Given the description of an element on the screen output the (x, y) to click on. 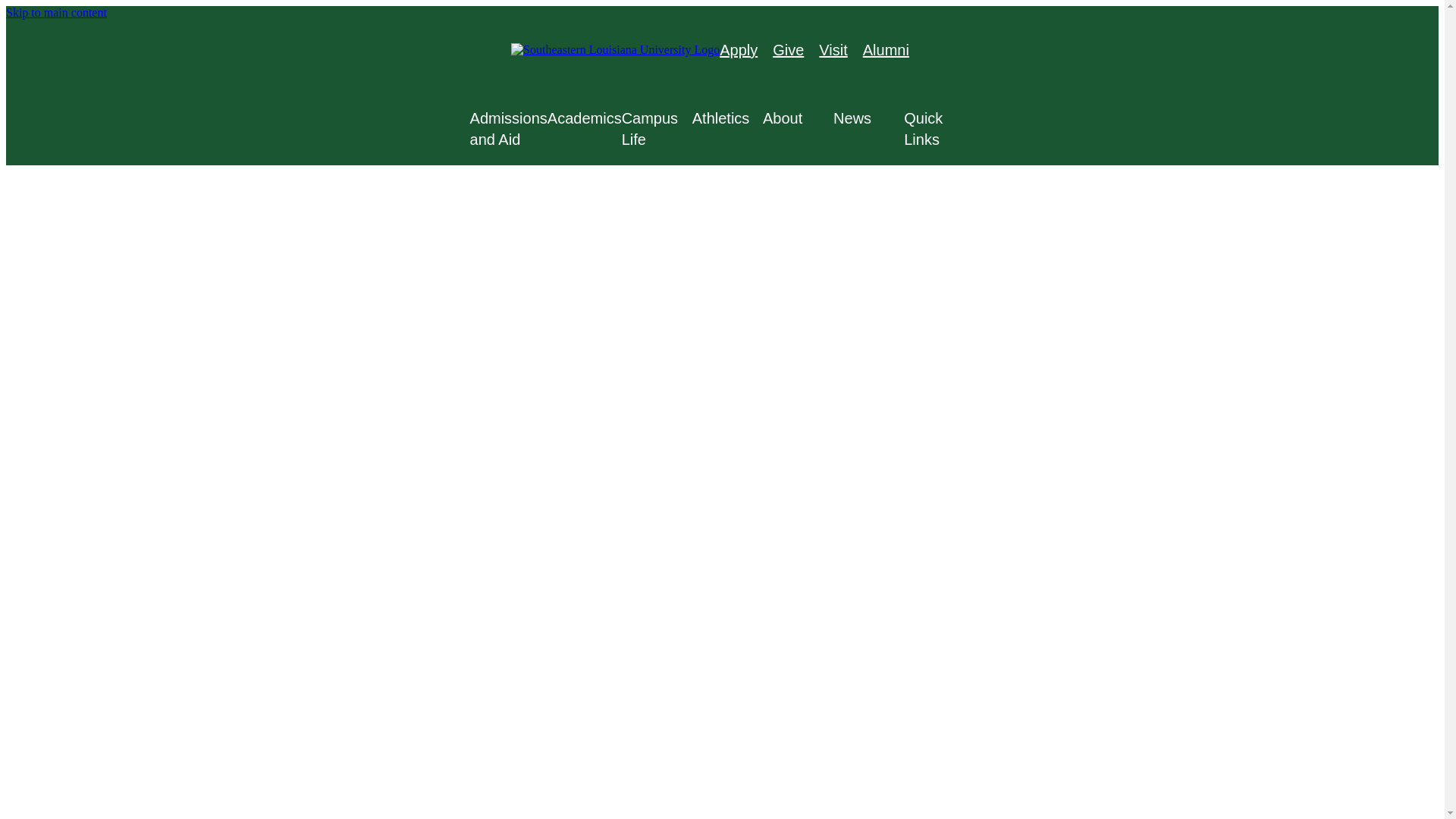
Give (788, 49)
Visit (832, 49)
Academics (584, 117)
Admissions and Aid (508, 128)
Apply (738, 49)
Campus Life (657, 128)
Alumni (885, 49)
